Given the description of an element on the screen output the (x, y) to click on. 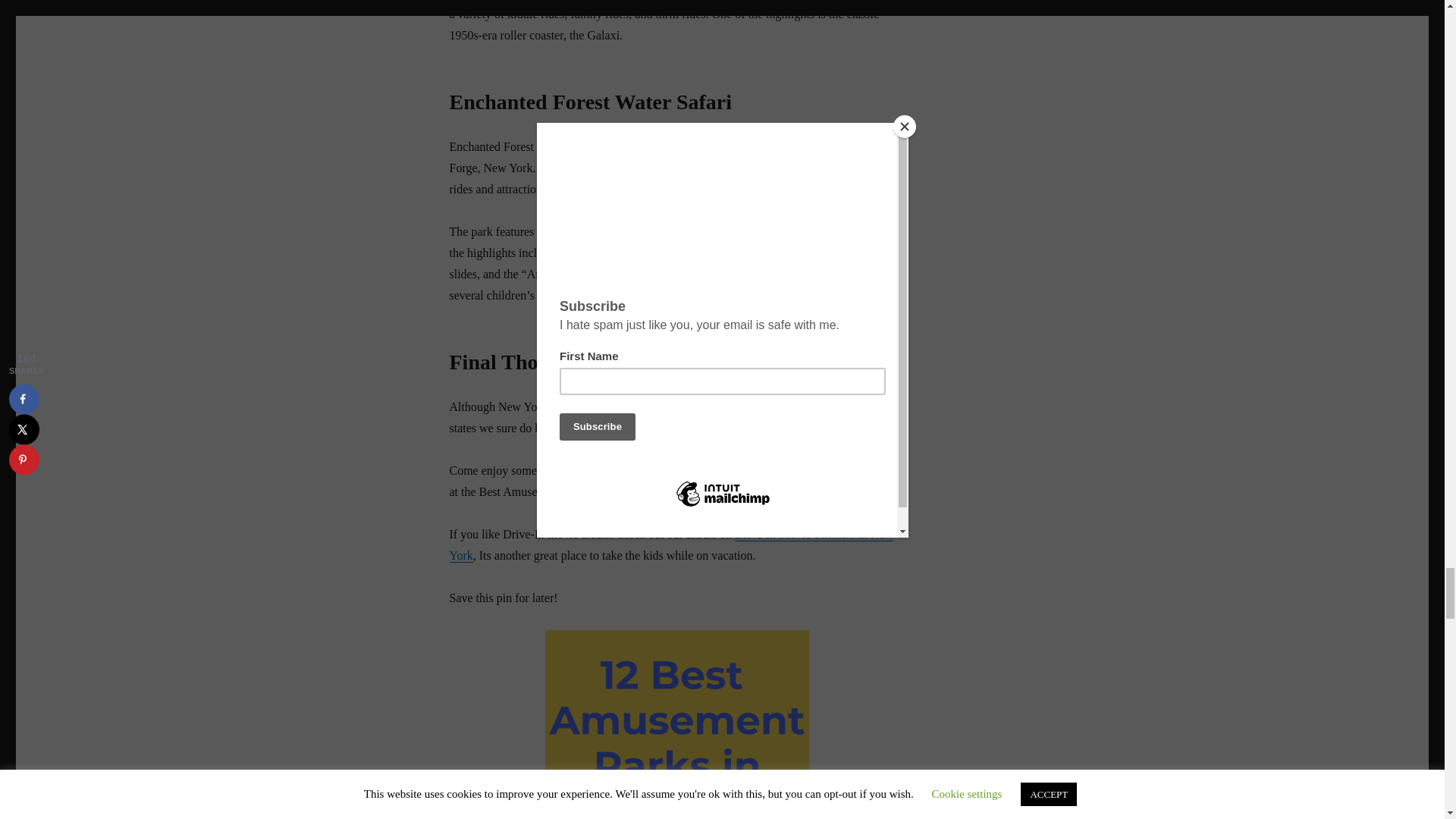
Drive-in Movie Theaters in New York (670, 544)
